Given the description of an element on the screen output the (x, y) to click on. 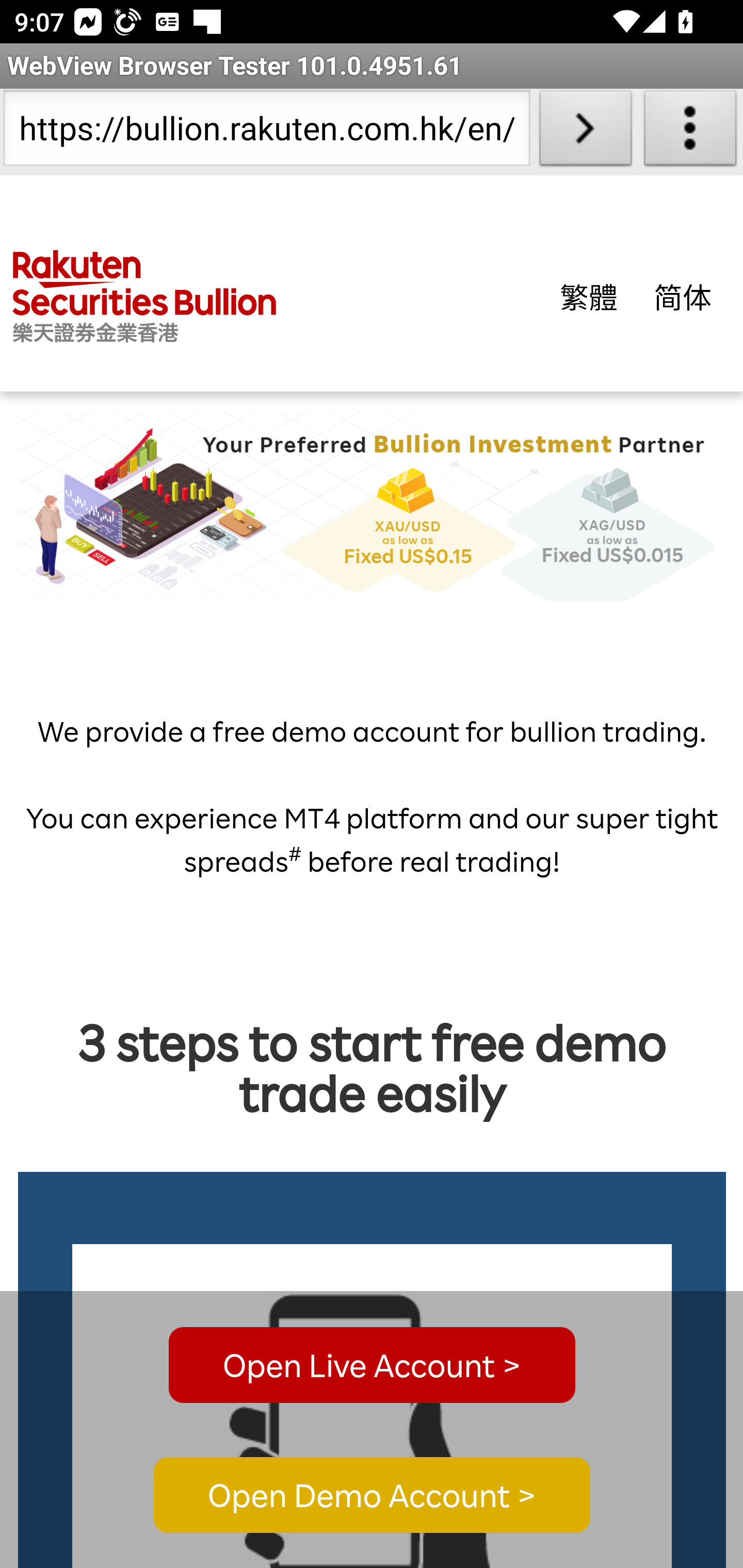
Load URL (585, 132)
About WebView (690, 132)
繁體 (589, 296)
简体 (683, 296)
1. Register (372, 1405)
Open Live Account > (371, 1364)
Open Demo Account > (371, 1495)
